Given the description of an element on the screen output the (x, y) to click on. 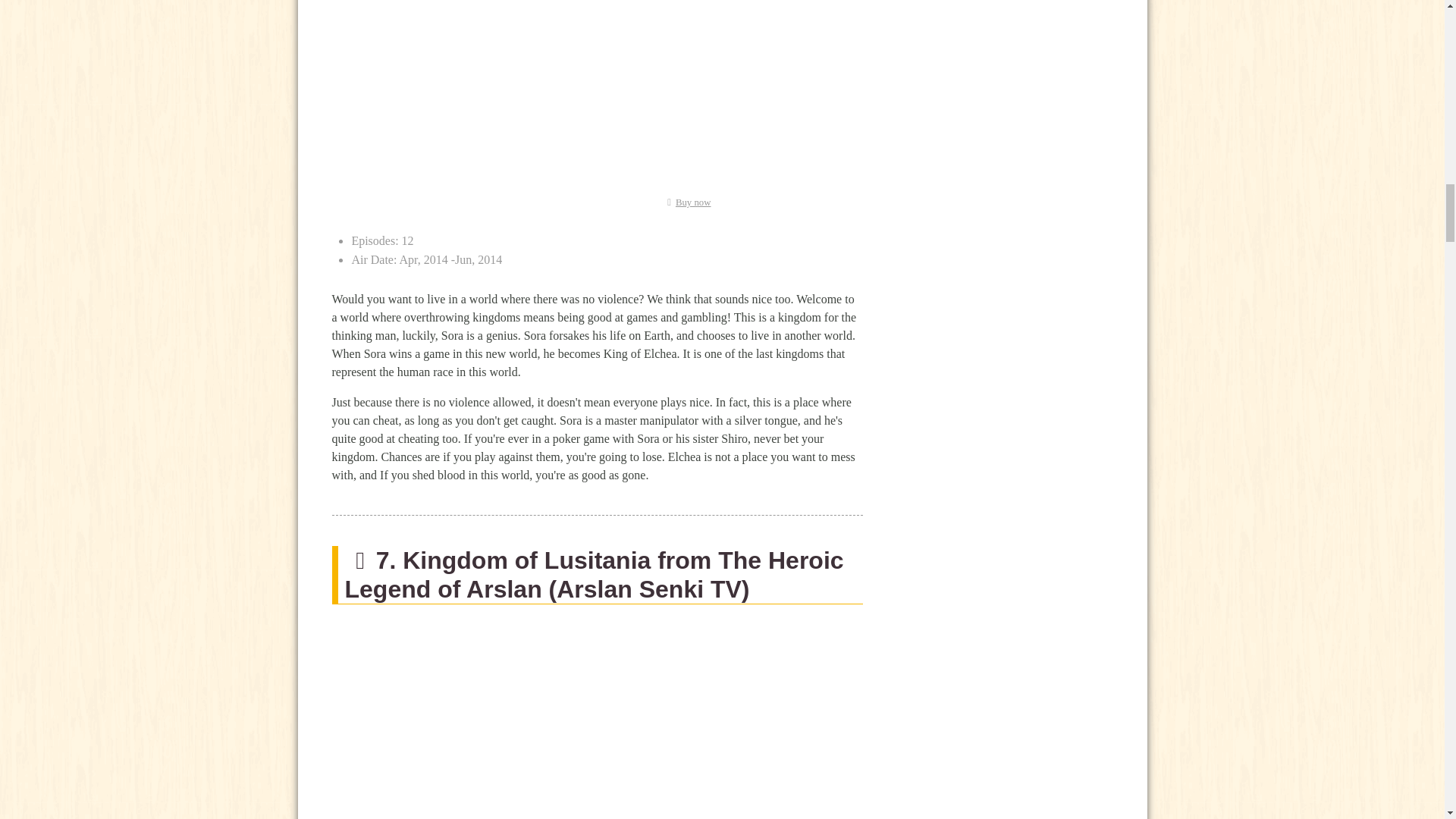
Buy now (686, 202)
